Given the description of an element on the screen output the (x, y) to click on. 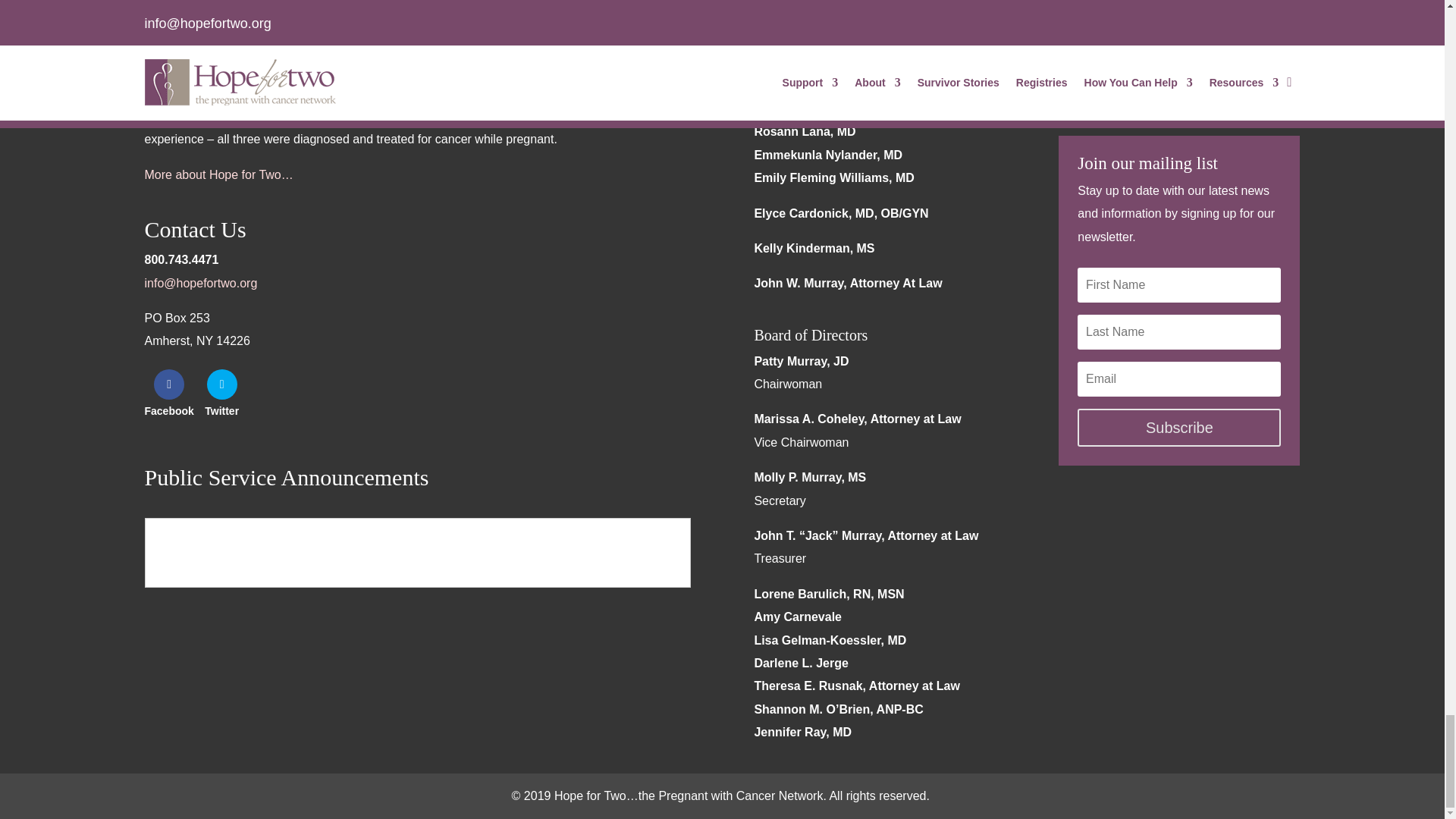
About Hope for Two (218, 174)
Search (1274, 89)
Search (1274, 89)
